Given the description of an element on the screen output the (x, y) to click on. 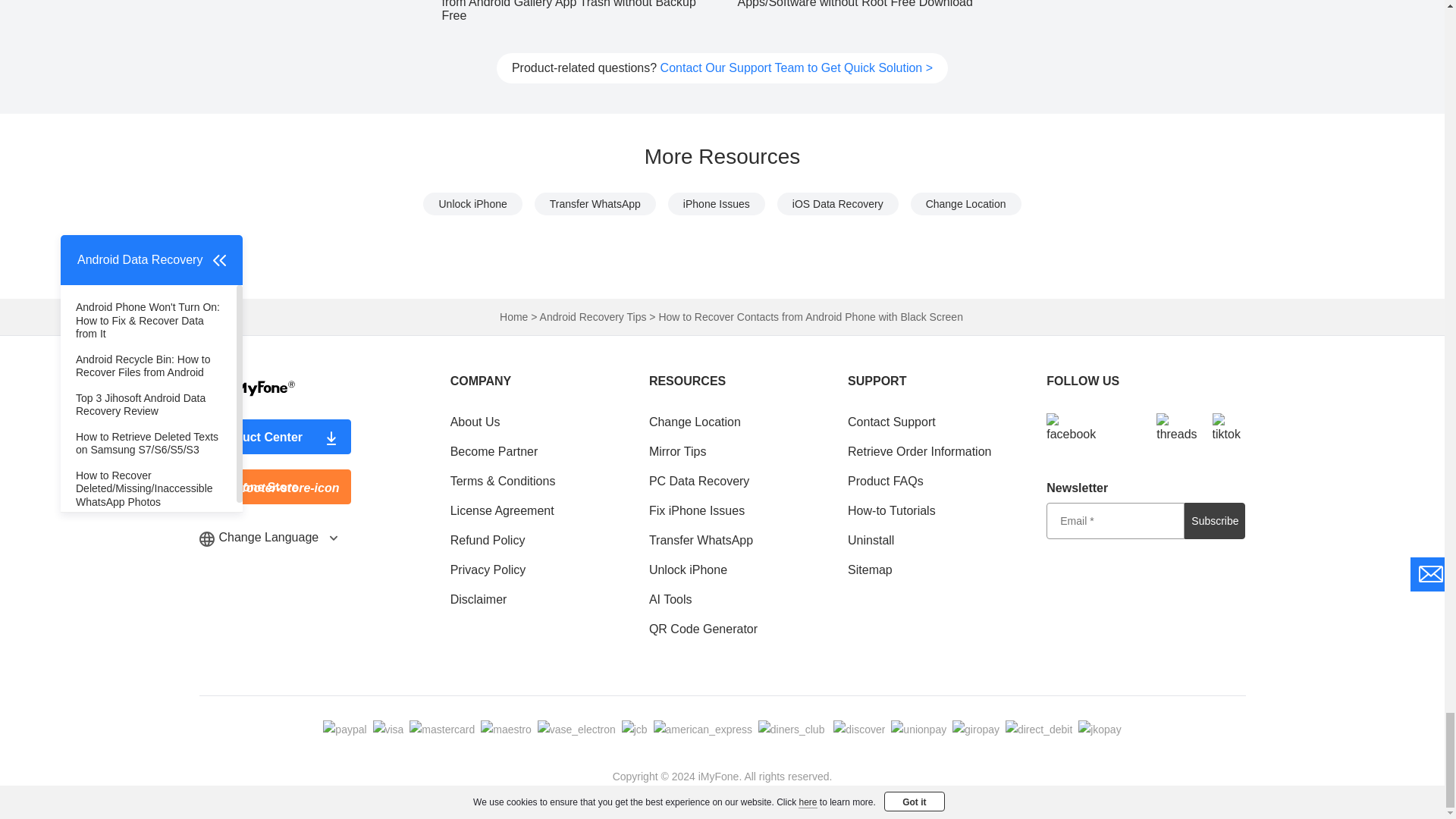
facebook (1071, 428)
tiktok (1226, 428)
threads (1176, 428)
